Given the description of an element on the screen output the (x, y) to click on. 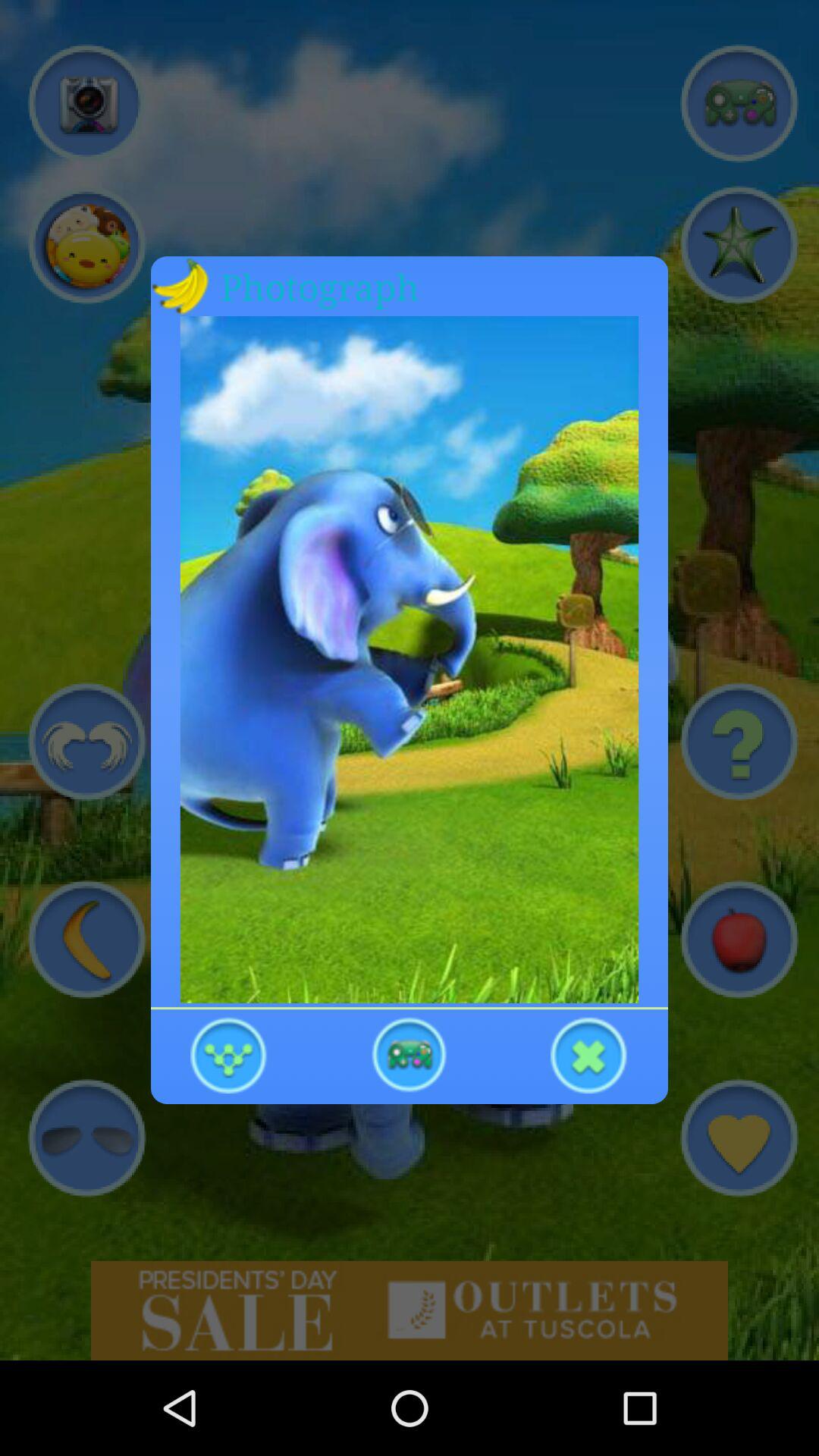
exit screen (589, 1054)
